Given the description of an element on the screen output the (x, y) to click on. 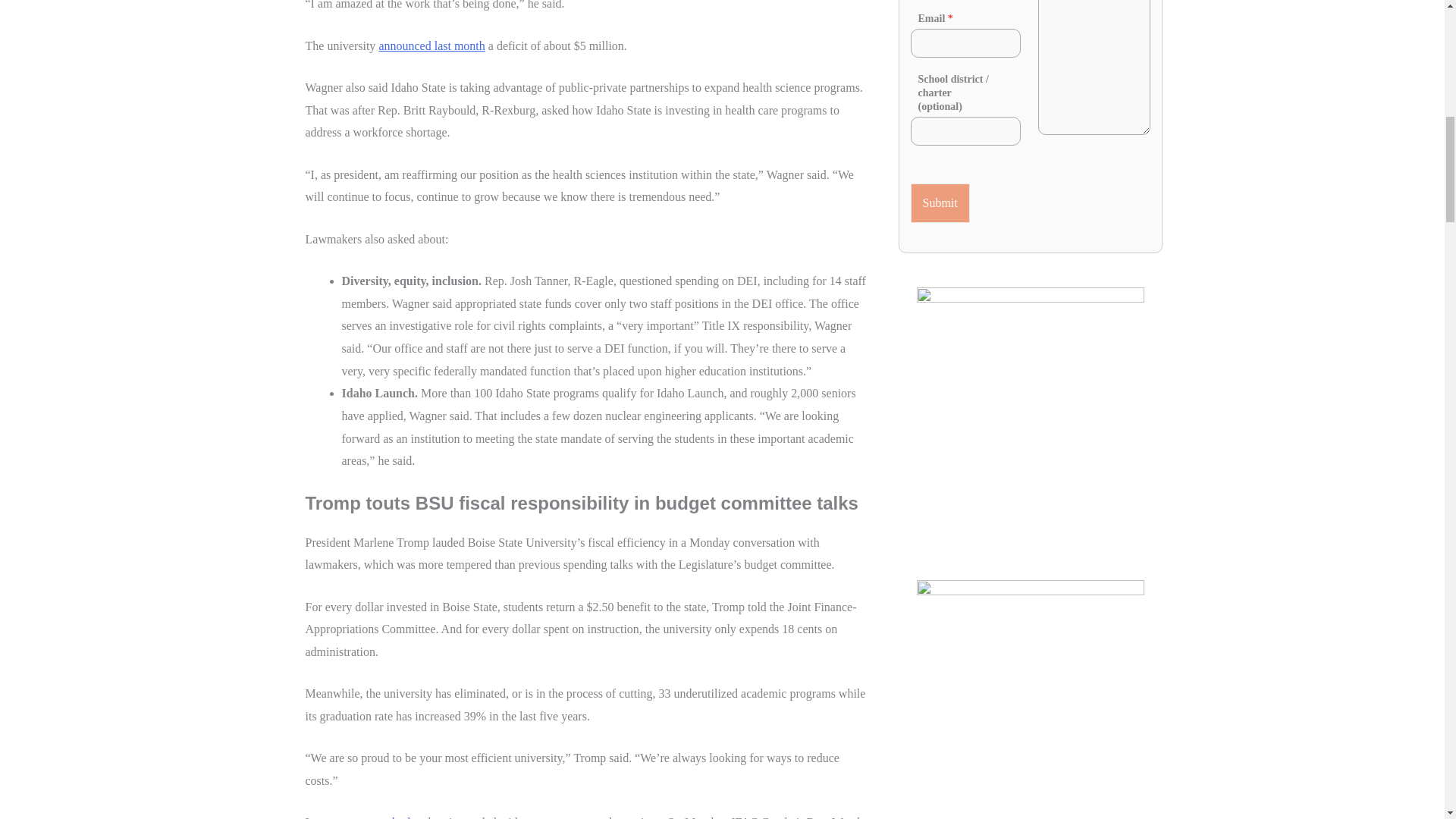
announced last month (431, 45)
Submit (939, 202)
a tense budget (390, 817)
